Given the description of an element on the screen output the (x, y) to click on. 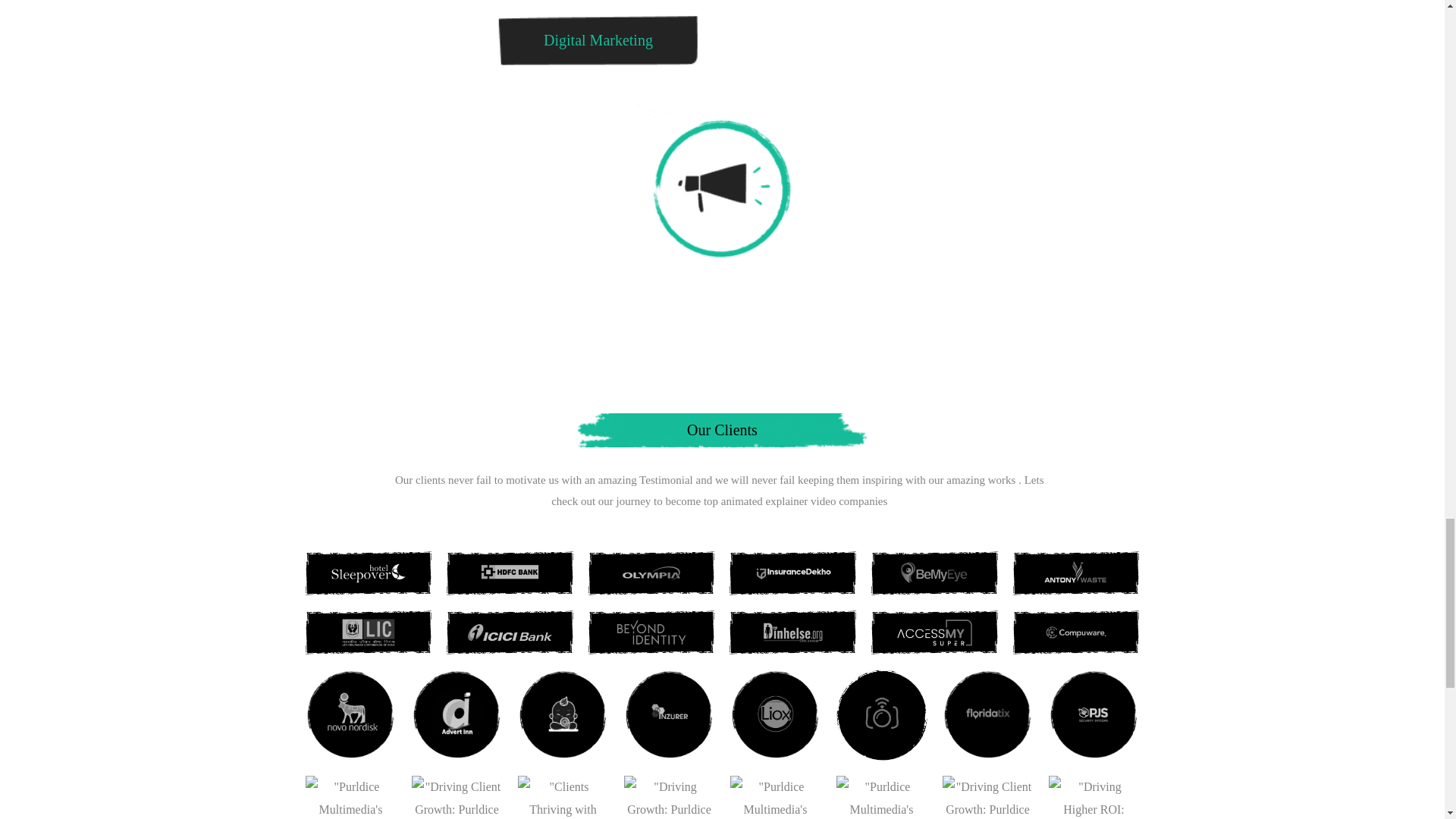
Digital Marketing (598, 40)
Our Clients (722, 429)
